Given the description of an element on the screen output the (x, y) to click on. 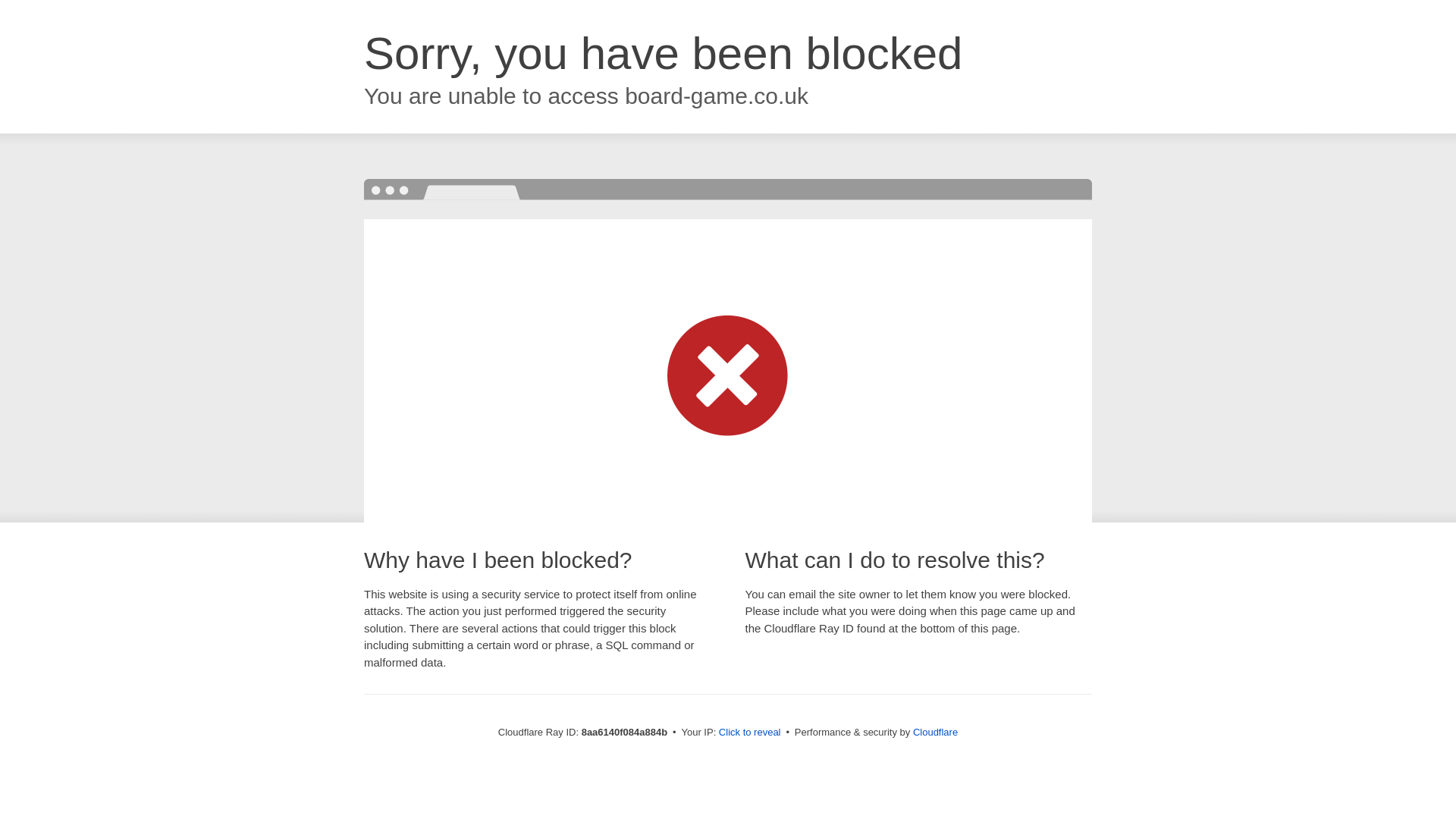
Click to reveal (749, 732)
Cloudflare (935, 731)
